Given the description of an element on the screen output the (x, y) to click on. 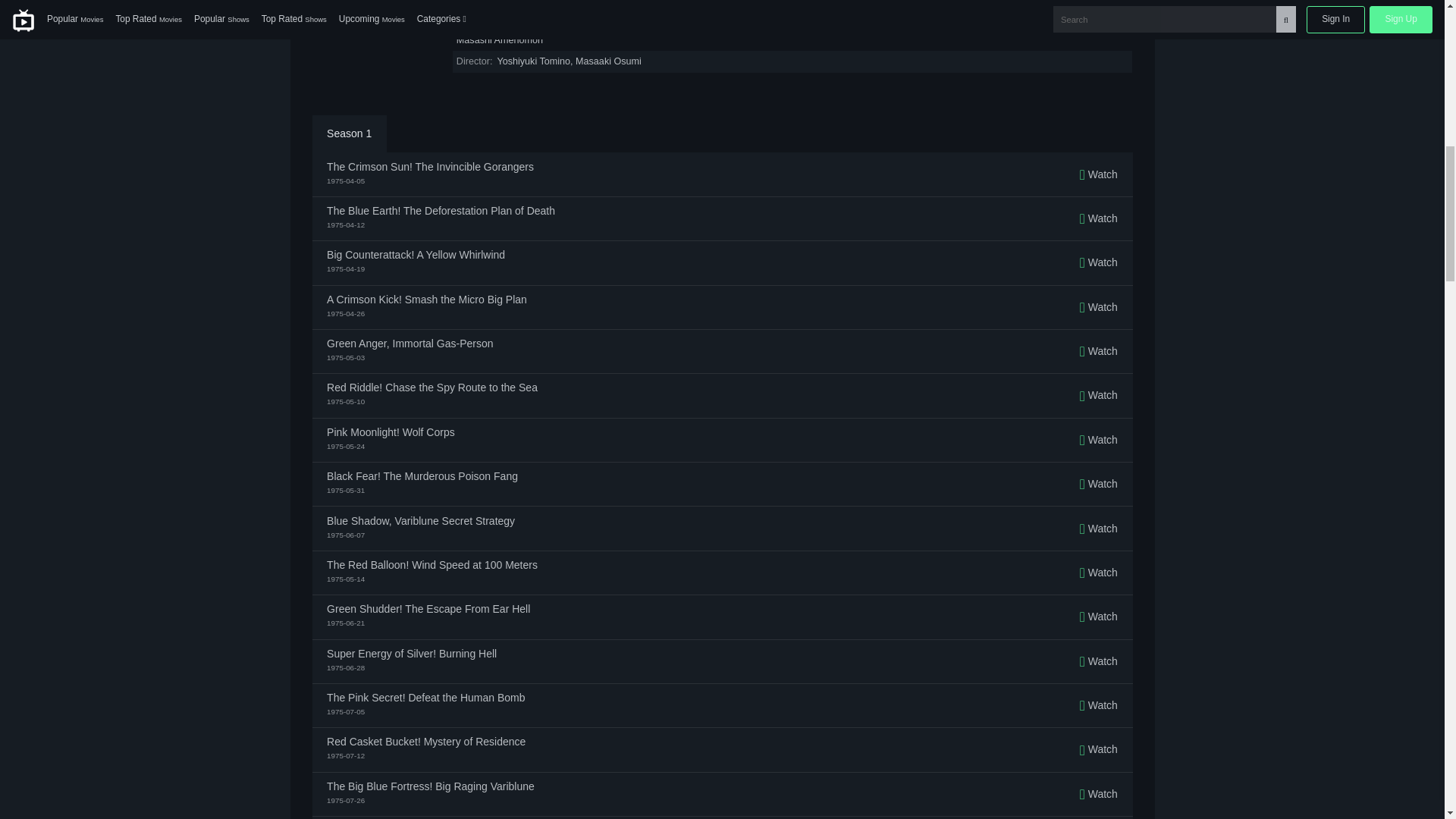
Red Casket Bucket! Mystery of Residence (425, 741)
A Crimson Kick! Smash the Micro Big Plan (426, 299)
Blue Shadow, Variblune Secret Strategy (420, 520)
Green Anger, Immortal Gas-Person (409, 343)
The Red Balloon! Wind Speed at 100 Meters (431, 564)
Pink Moonlight! Wolf Corps (390, 431)
Red Riddle! Chase the Spy Route to the Sea (431, 387)
The Big Blue Fortress! Big Raging Variblune (430, 786)
Green Shudder! The Escape From Ear Hell (427, 608)
Black Fear! The Murderous Poison Fang (422, 475)
The Blue Earth! The Deforestation Plan of Death (440, 210)
The Pink Secret! Defeat the Human Bomb (425, 697)
Super Energy of Silver! Burning Hell (411, 653)
Big Counterattack! A Yellow Whirlwind (415, 254)
The Crimson Sun! The Invincible Gorangers (430, 166)
